Given the description of an element on the screen output the (x, y) to click on. 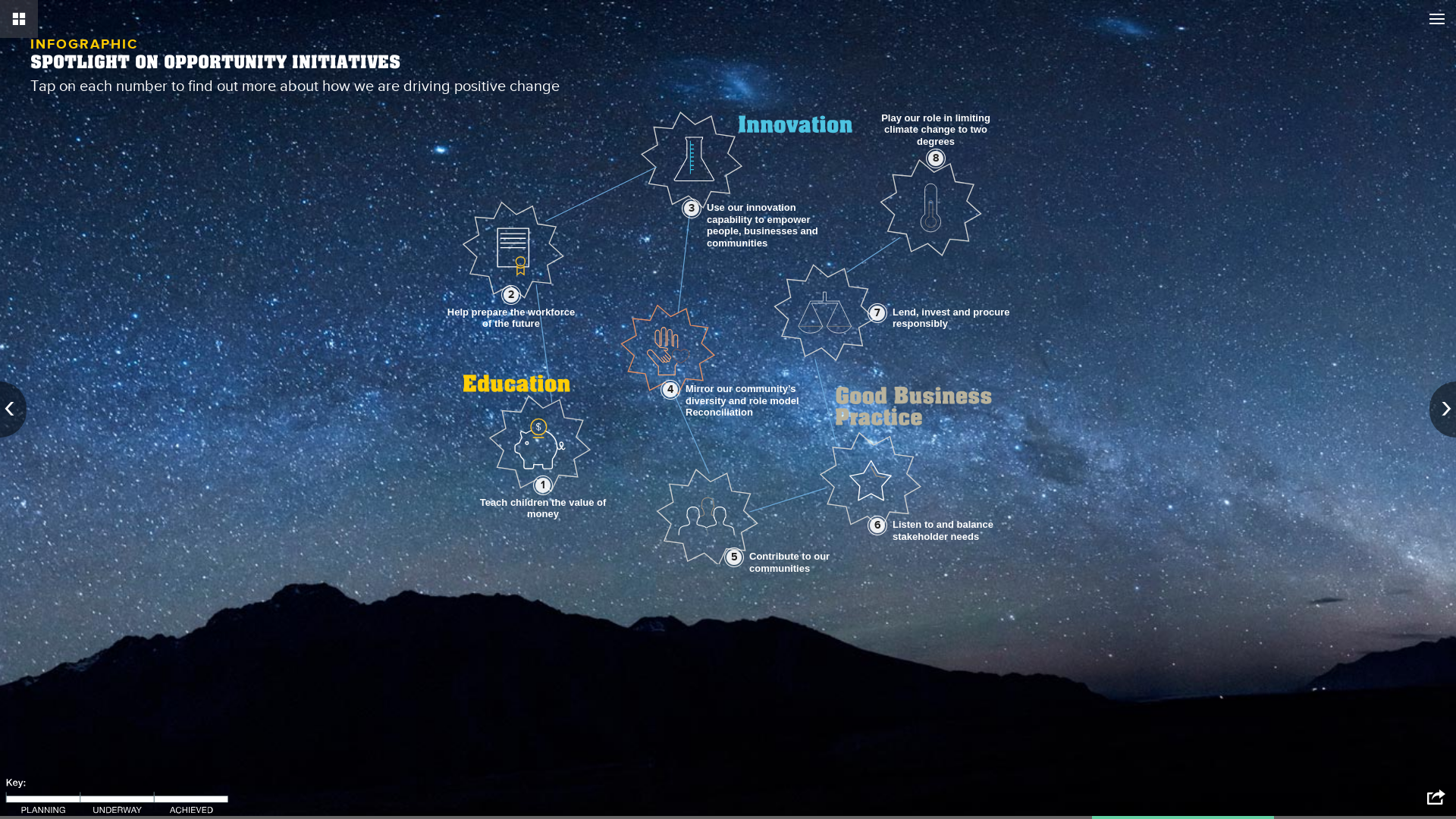
1
Teach children the value of money Element type: text (542, 484)
2
Help prepare the workforce of the future Element type: text (510, 294)
8
Play our role in limiting climate change to two degrees Element type: text (935, 158)
7
Lend, invest and procure responsibly Element type: text (877, 312)
6
Listen to and balance stakeholder needs Element type: text (877, 525)
5
Contribute to our communities Element type: text (733, 557)
